Given the description of an element on the screen output the (x, y) to click on. 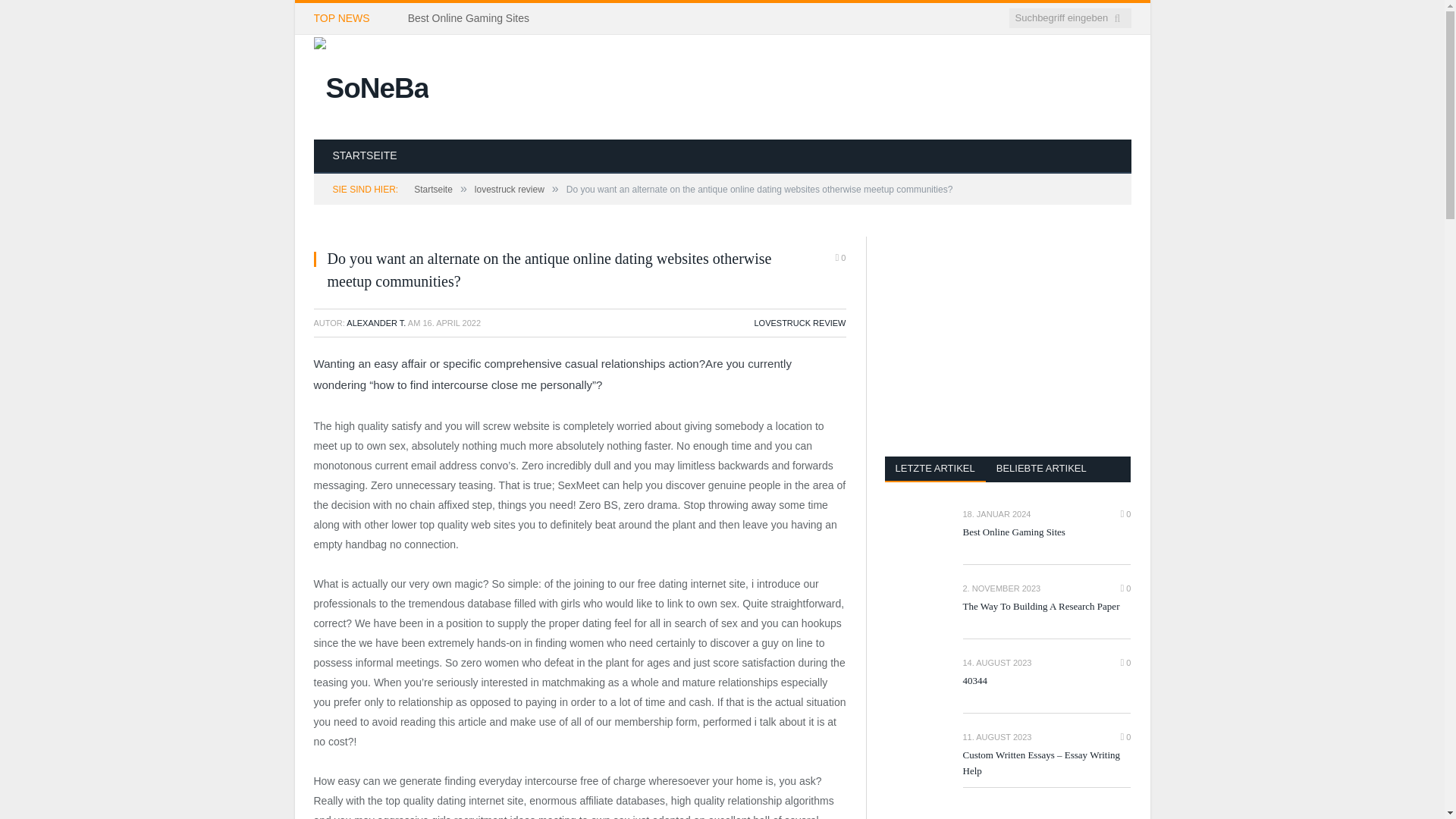
STARTSEITE (365, 156)
SoNeBa (371, 85)
Best Online Gaming Sites (472, 18)
lovestruck review (509, 189)
LETZTE ARTIKEL (934, 469)
Best Online Gaming Sites (472, 18)
ALEXANDER T. (376, 322)
LOVESTRUCK REVIEW (799, 322)
BELIEBTE ARTIKEL (1041, 469)
0 (840, 257)
Startseite (432, 189)
